Given the description of an element on the screen output the (x, y) to click on. 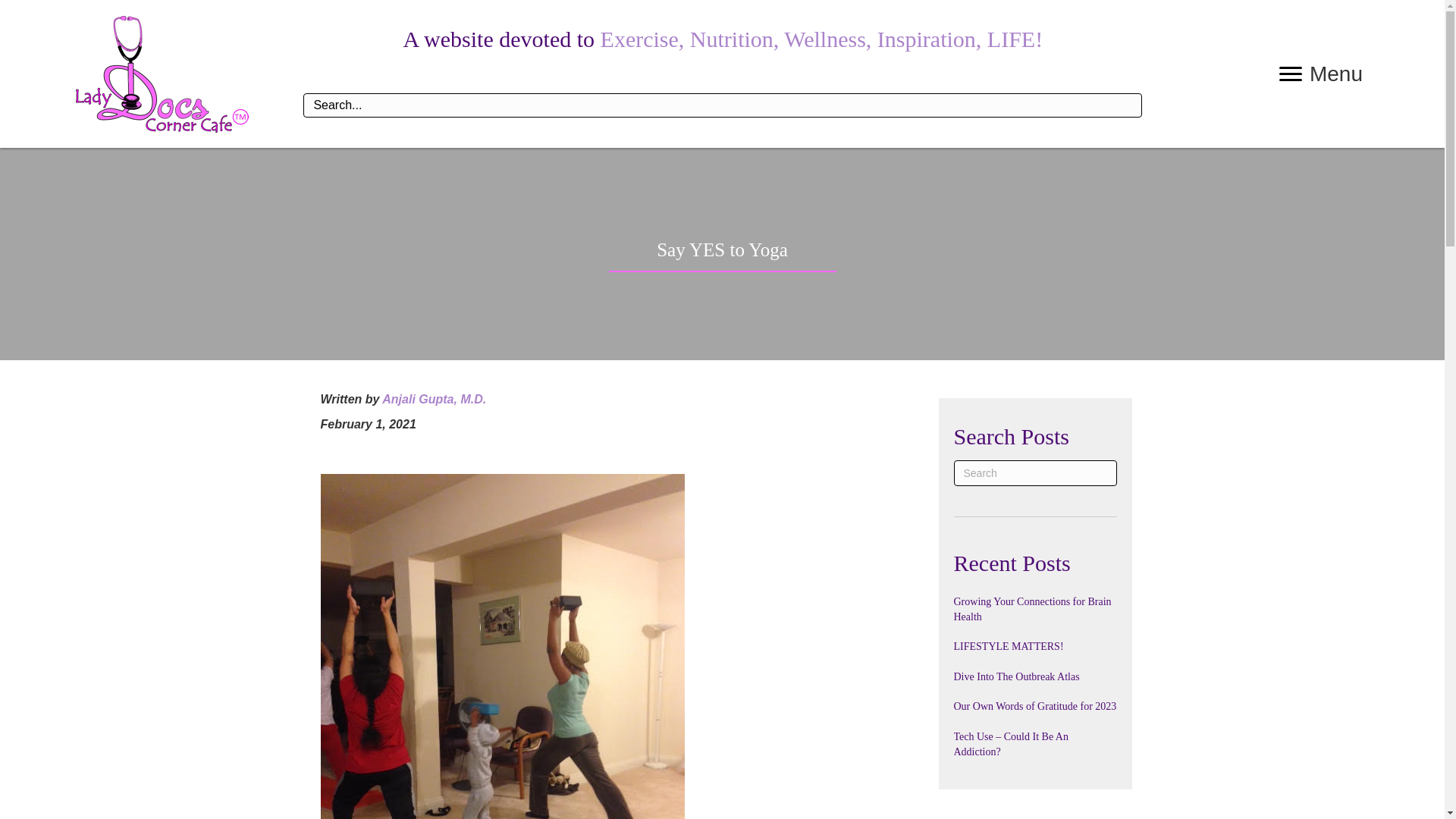
Dive Into The Outbreak Atlas (1016, 676)
LIFESTYLE MATTERS! (1008, 645)
Growing Your Connections for Brain Health (1032, 609)
Growing Your Connections for Brain Health (1032, 609)
Dive Into The Outbreak Atlas (1016, 676)
Our Own Words of Gratitude for 2023 (1034, 706)
Type and press Enter to search. (1034, 473)
LIFESTYLE MATTERS! (1008, 645)
logo-new (161, 73)
Anjali Gupta, M.D. (433, 399)
Our Own Words of Gratitude for 2023 (1034, 706)
